Given the description of an element on the screen output the (x, y) to click on. 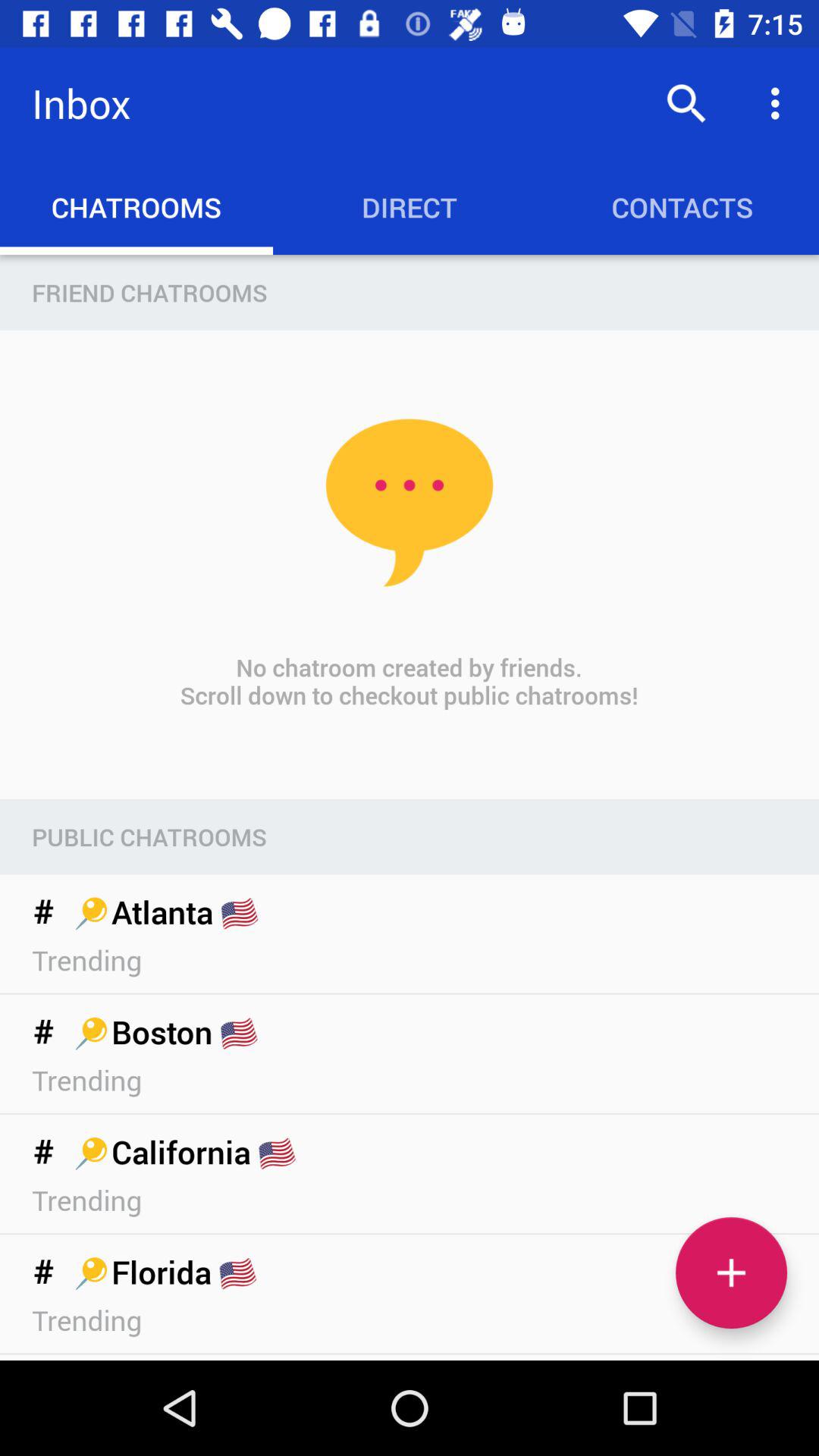
click icon above contacts item (779, 103)
